Given the description of an element on the screen output the (x, y) to click on. 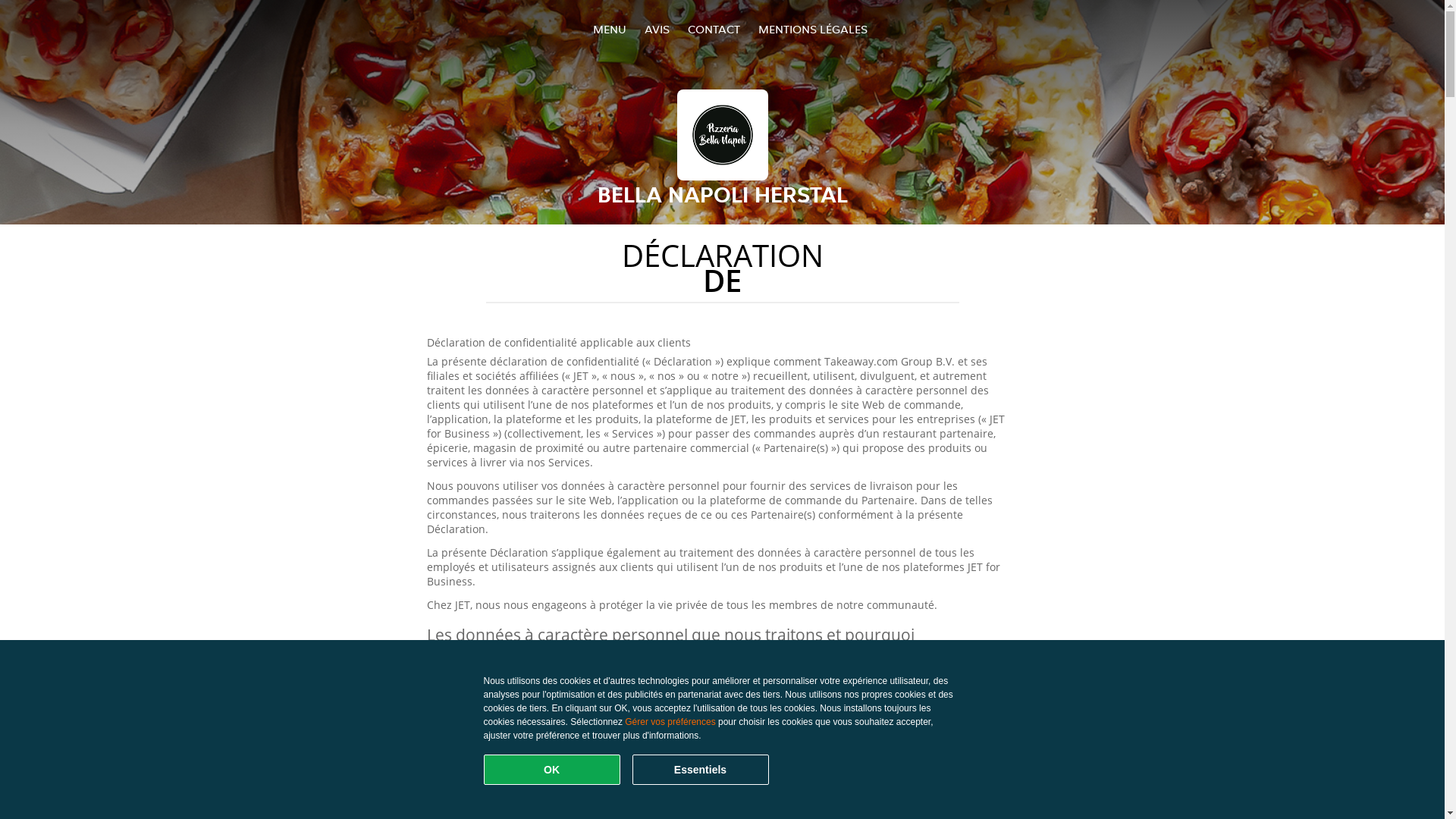
OK Element type: text (551, 769)
Essentiels Element type: text (700, 769)
CONTACT Element type: text (713, 29)
AVIS Element type: text (656, 29)
MENU Element type: text (609, 29)
